Given the description of an element on the screen output the (x, y) to click on. 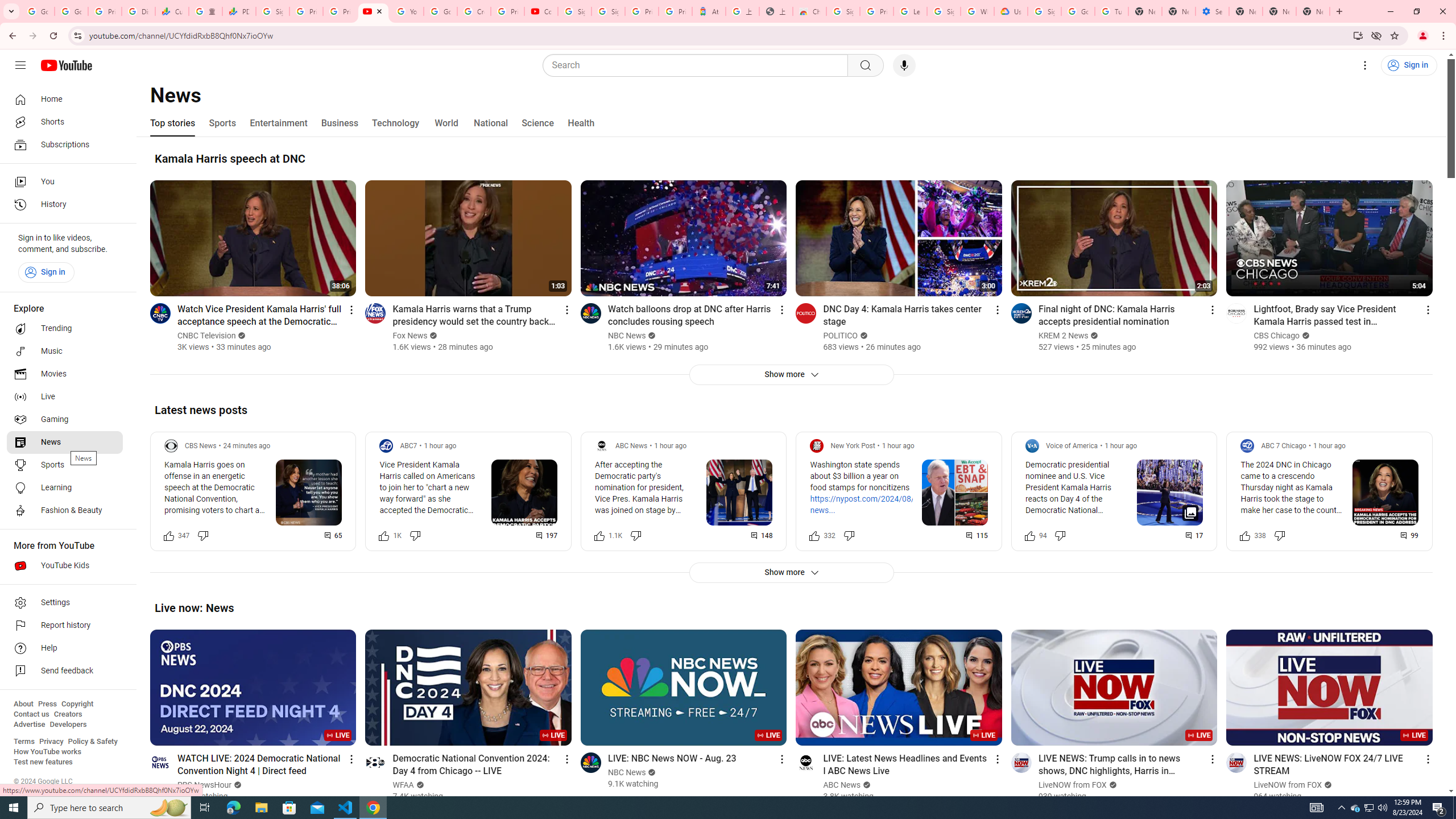
Settings (1365, 65)
Create your Google Account (474, 11)
Atour Hotel - Google hotels (708, 11)
National (490, 122)
Live (64, 396)
YouTube Kids (64, 565)
NBC News (626, 772)
Google Workspace Admin Community (37, 11)
Entertainment (277, 122)
Top stories (172, 122)
Chrome Web Store (809, 11)
